Given the description of an element on the screen output the (x, y) to click on. 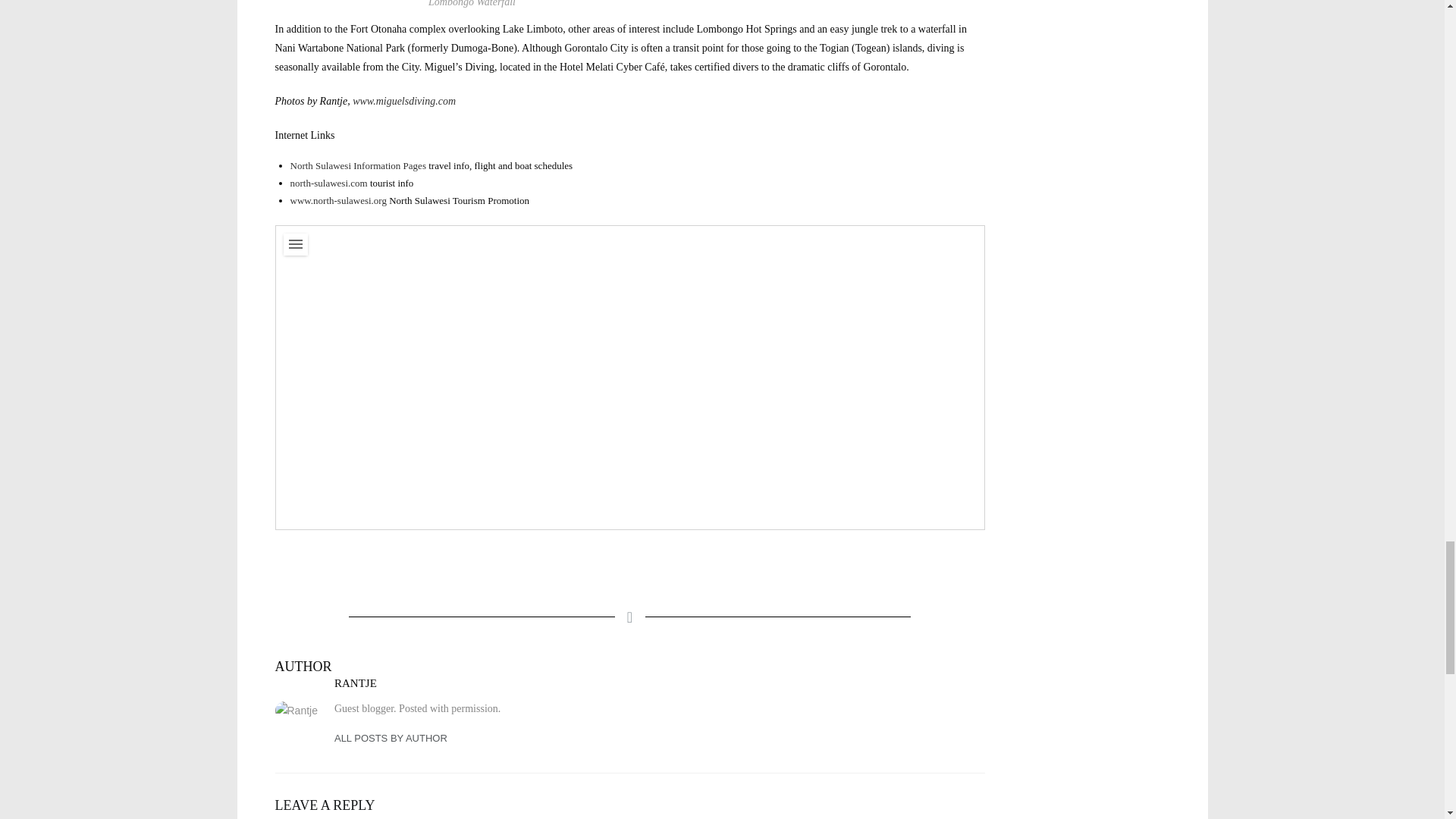
Menu (295, 244)
ALL POSTS BY AUTHOR (390, 737)
north-sulawesi.com (327, 183)
North Sulawesi Information Pages (357, 165)
www.north-sulawesi.org (337, 200)
www.miguelsdiving.com (403, 101)
